Given the description of an element on the screen output the (x, y) to click on. 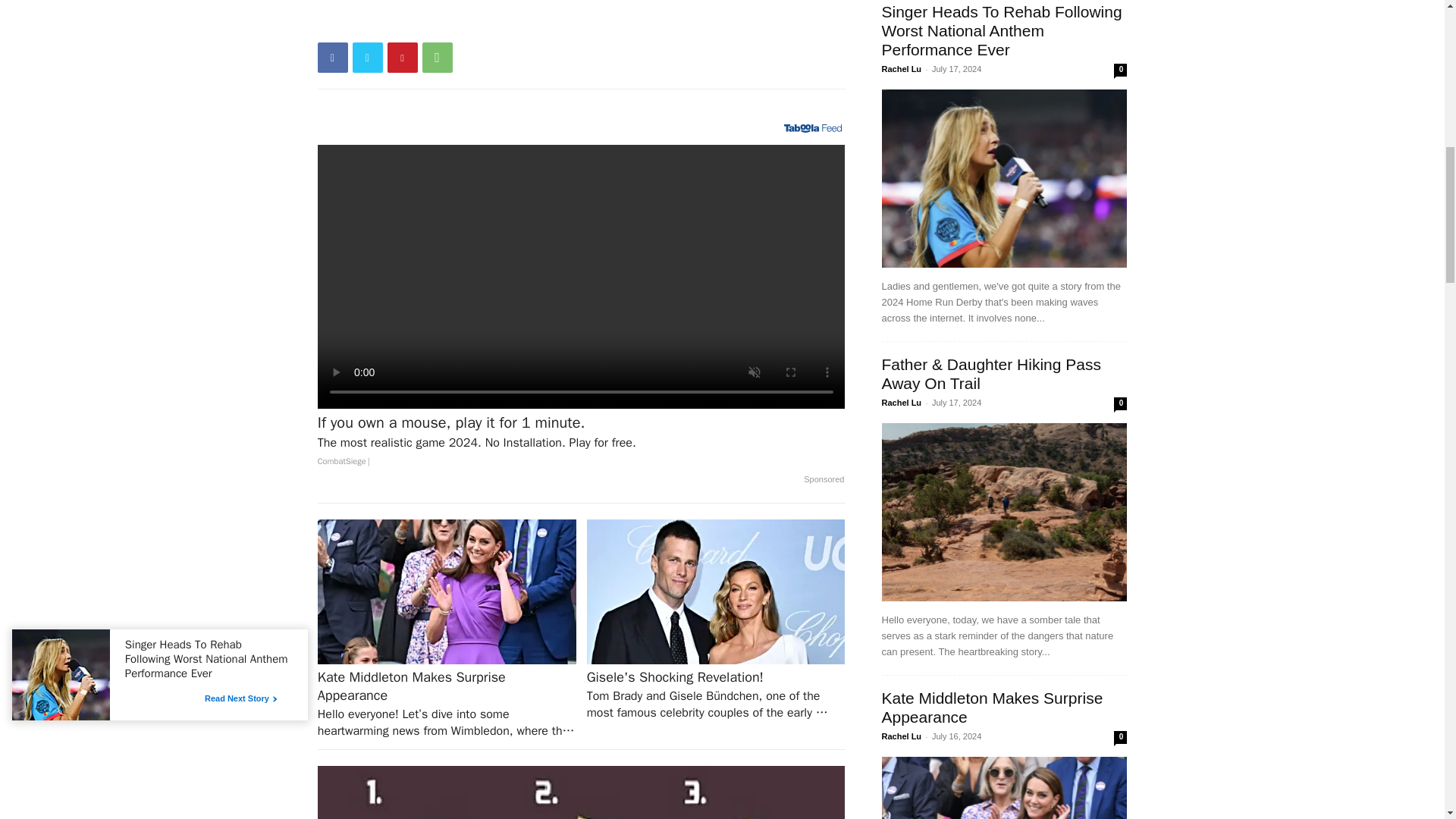
Facebook (332, 57)
Twitter (366, 57)
Advertisement (580, 76)
bottomFacebookLike (430, 23)
